Given the description of an element on the screen output the (x, y) to click on. 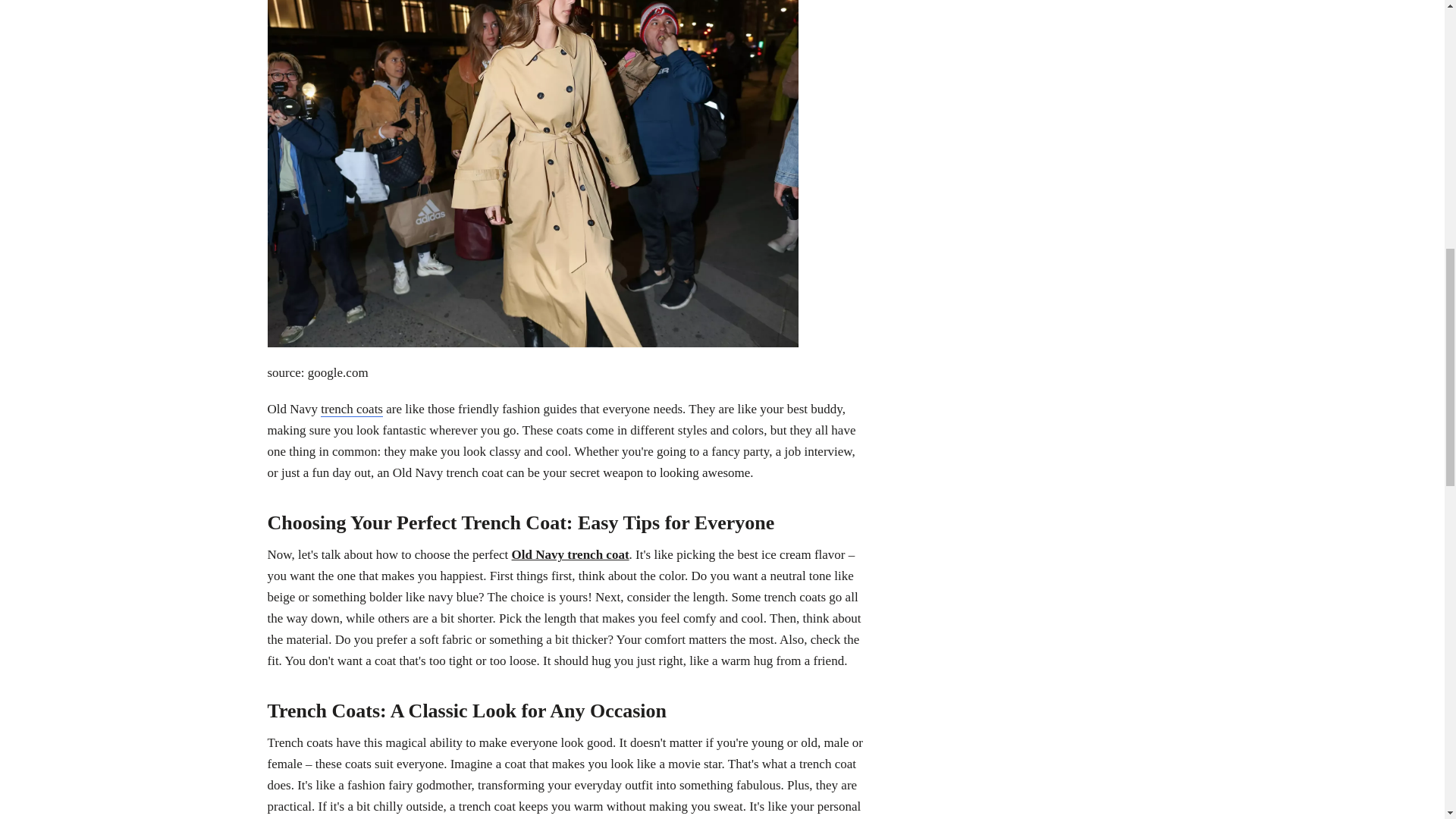
trench coats (351, 409)
